Given the description of an element on the screen output the (x, y) to click on. 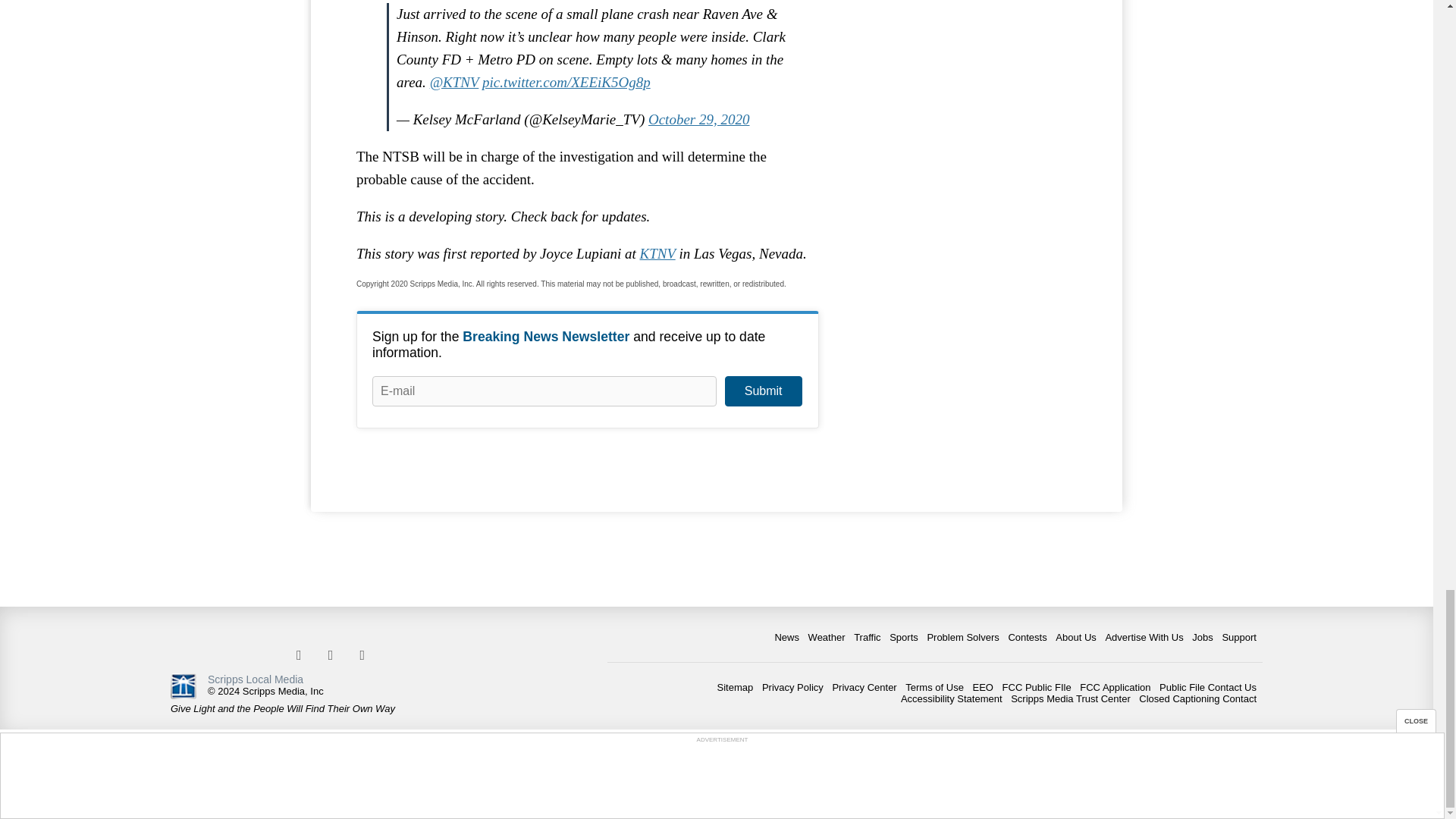
Submit (763, 390)
